Given the description of an element on the screen output the (x, y) to click on. 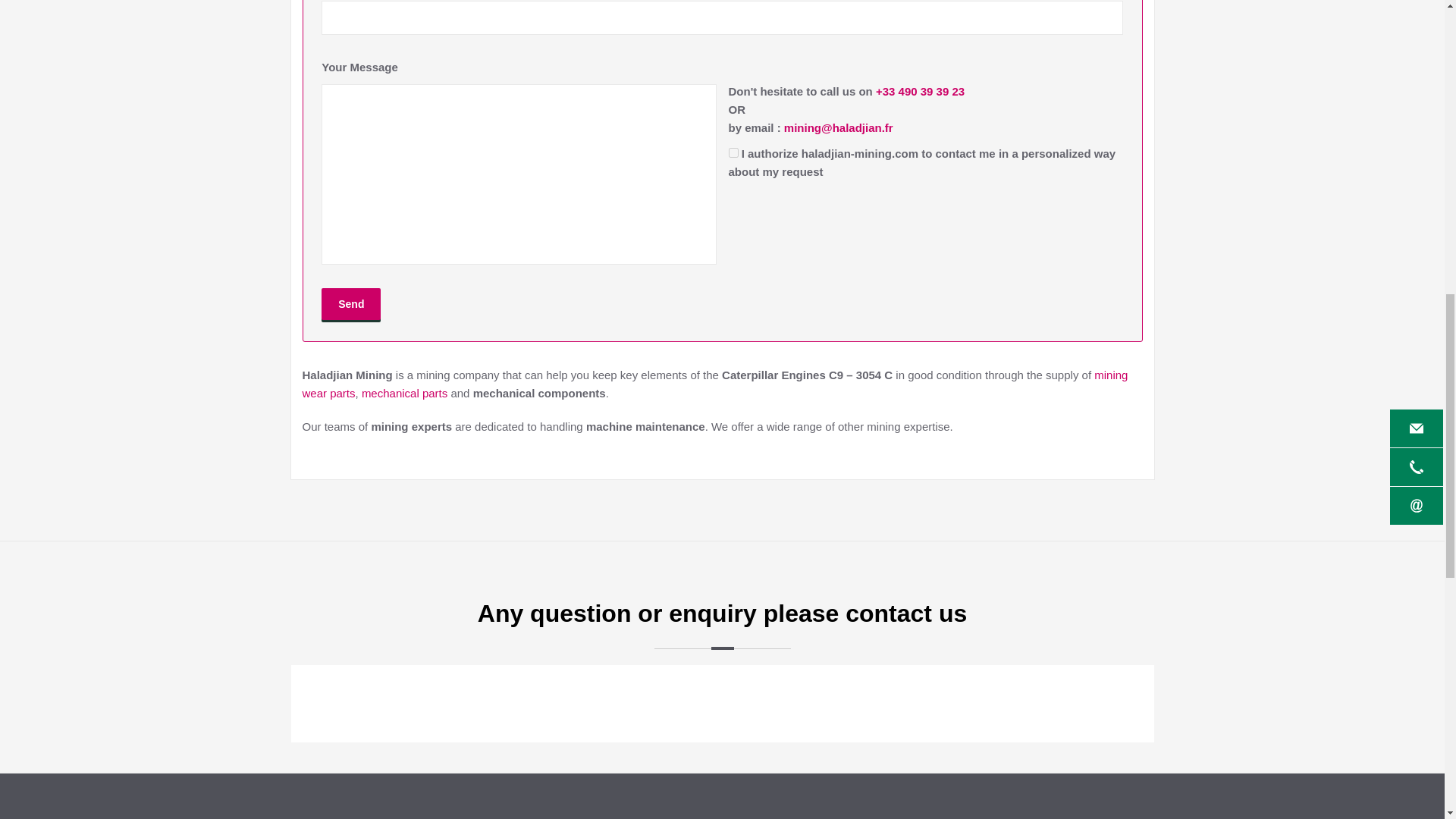
1 (733, 153)
Send (350, 304)
Send (350, 304)
mining wear parts (713, 383)
